Given the description of an element on the screen output the (x, y) to click on. 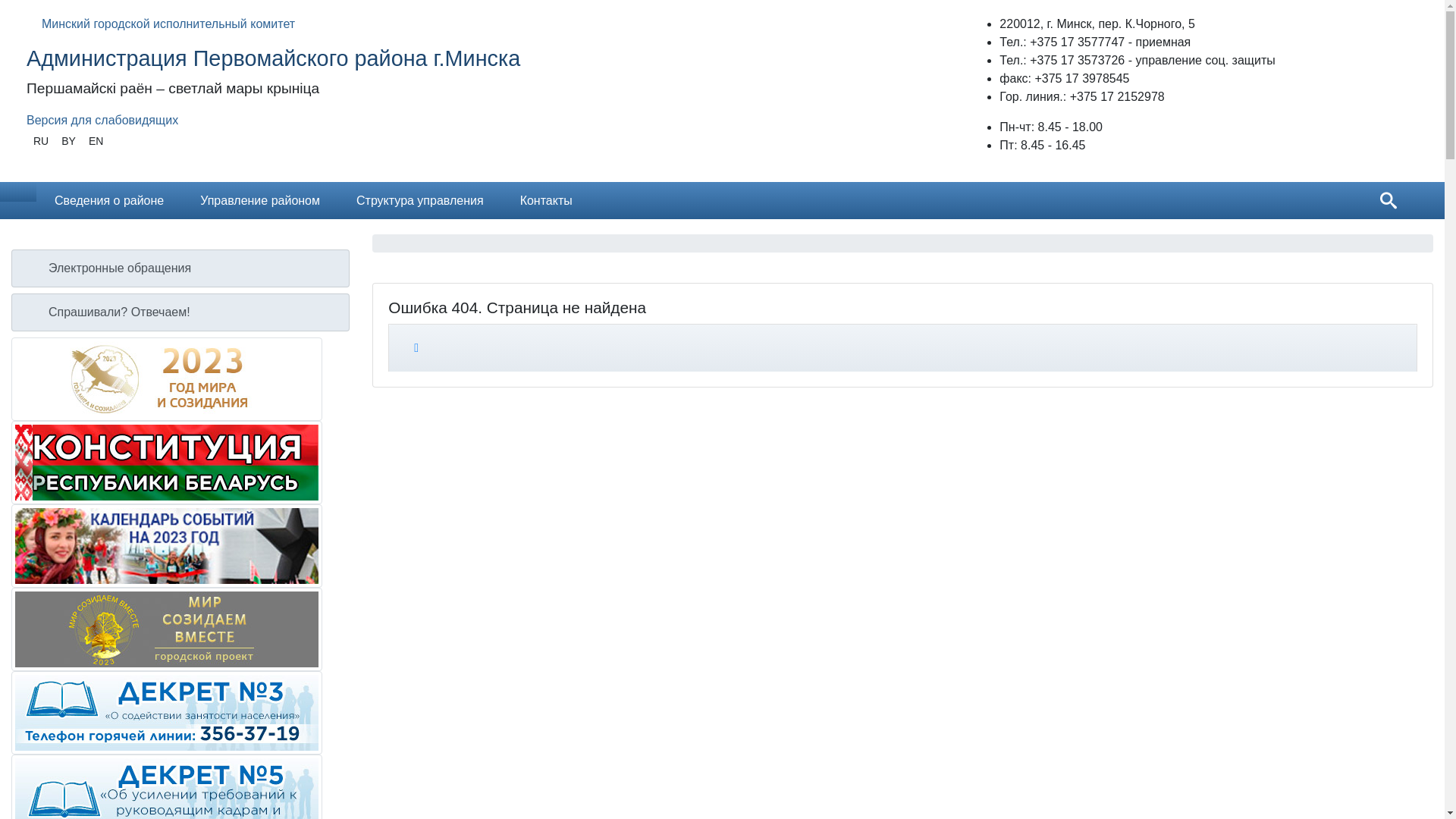
RU Element type: text (40, 141)
BY Element type: text (68, 141)
EN Element type: text (95, 141)
